Given the description of an element on the screen output the (x, y) to click on. 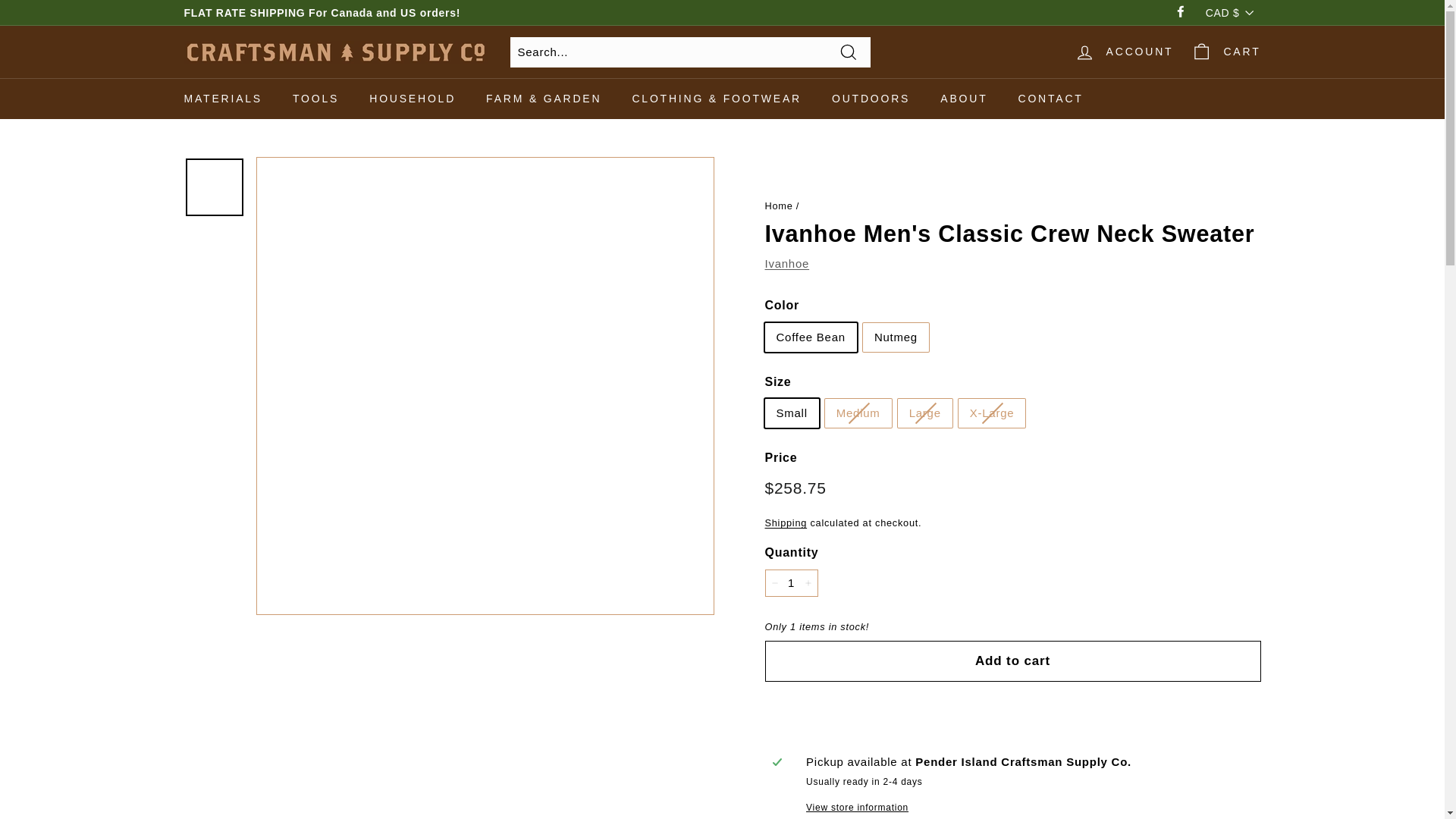
Back to the frontpage (778, 205)
1 (790, 583)
Ivanhoe (786, 263)
